Given the description of an element on the screen output the (x, y) to click on. 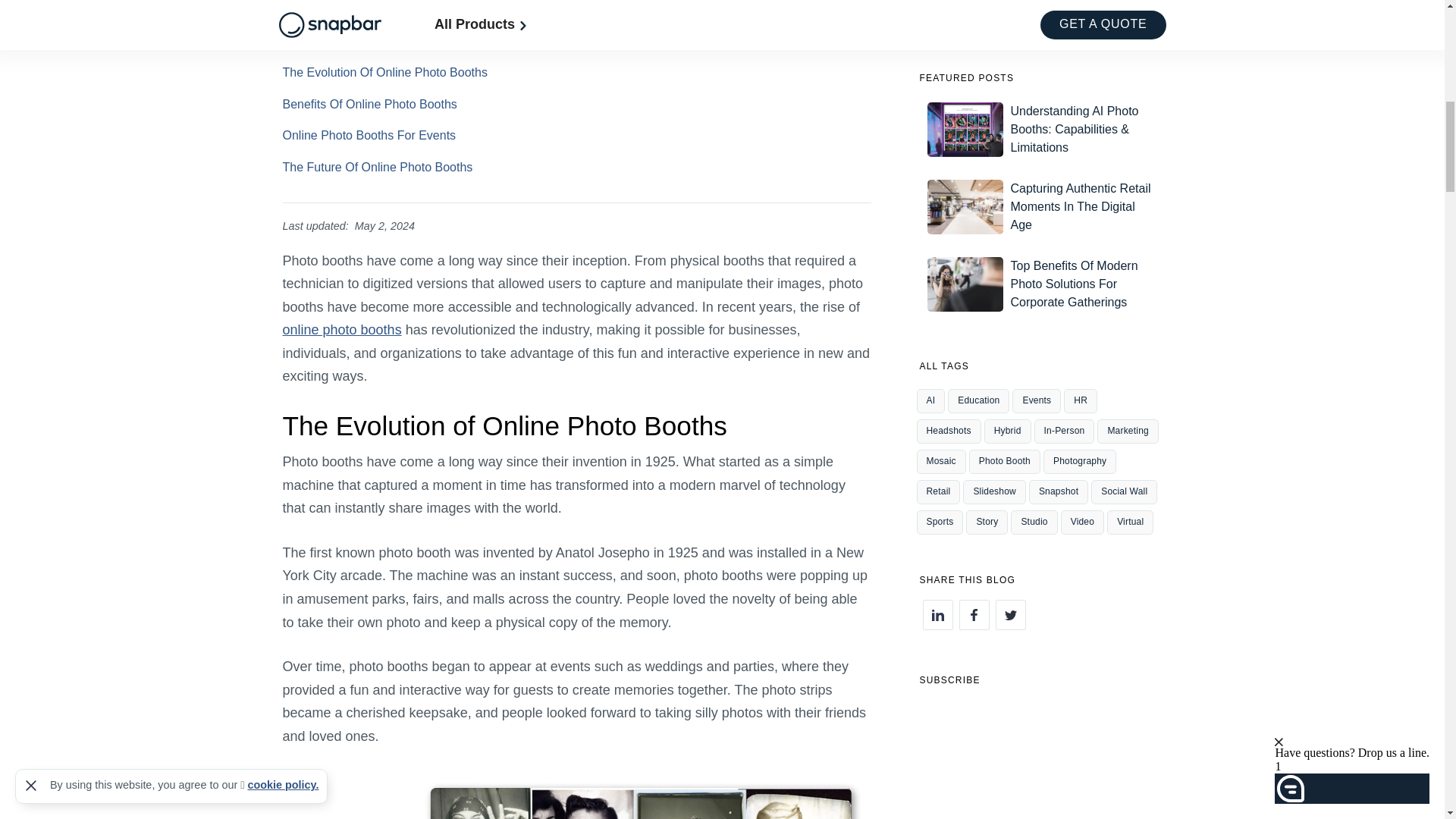
Photo Booth (317, 4)
The Evolution Of Online Photo Booths (384, 72)
Form 0 (1039, 745)
Hybrid (1007, 431)
online photo booths (341, 329)
Education (978, 401)
Benefits Of Online Photo Booths (369, 103)
Capturing Authentic Retail Moments In The Digital Age (1039, 206)
Headshots (947, 431)
Events (443, 4)
AI (929, 401)
Snapshot (386, 4)
VIEW ALL POSTS (1039, 4)
The Future Of Online Photo Booths (376, 166)
